Given the description of an element on the screen output the (x, y) to click on. 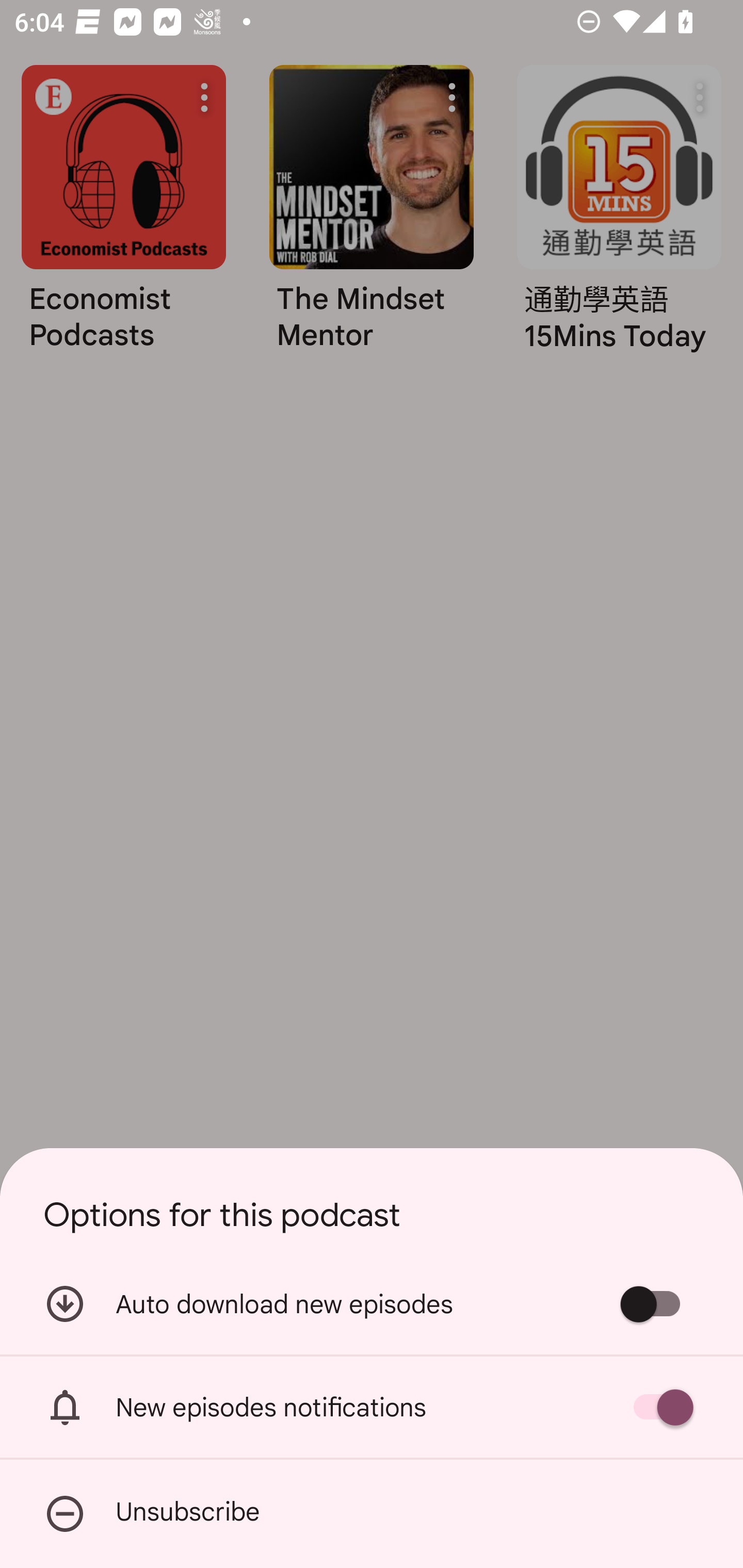
Auto download new episodes (371, 1303)
New episodes notifications (371, 1407)
Unsubscribe (371, 1513)
